Given the description of an element on the screen output the (x, y) to click on. 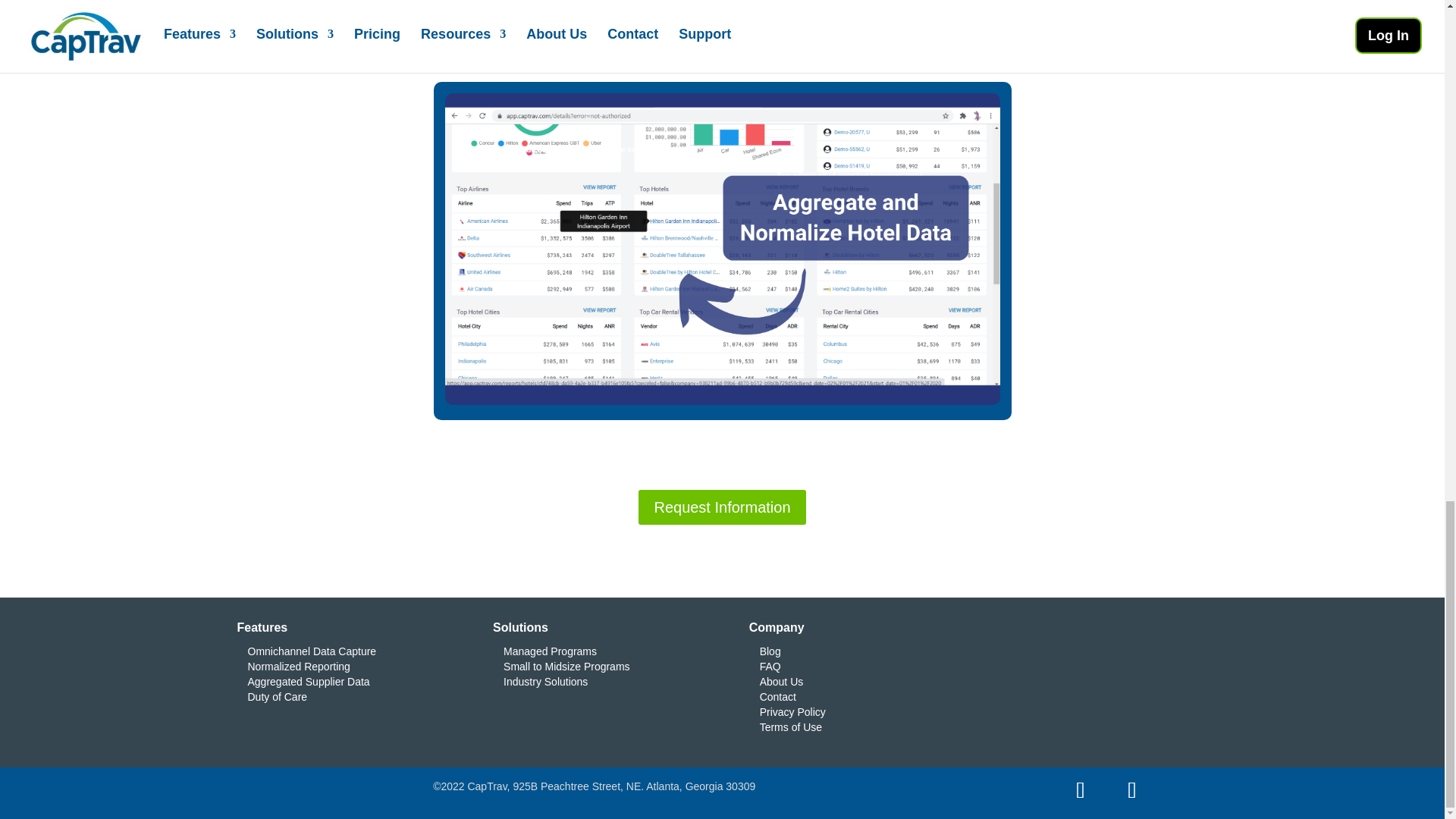
Follow on LinkedIn (1080, 790)
Follow on Youtube (1131, 790)
